Given the description of an element on the screen output the (x, y) to click on. 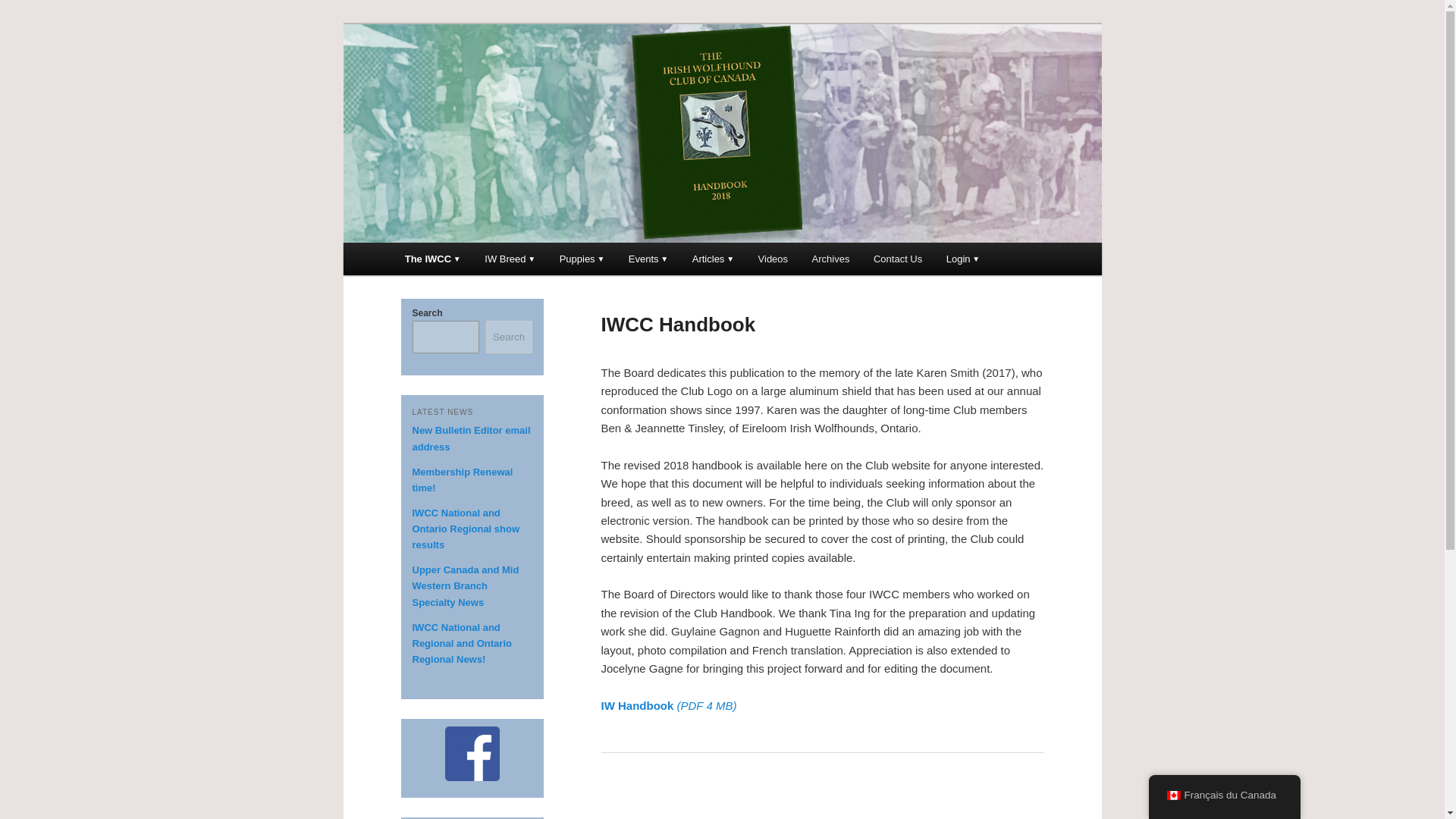
Puppies (581, 258)
The IWCC (433, 258)
IW Breed (510, 258)
Events (647, 258)
Recherche (33, 8)
